Given the description of an element on the screen output the (x, y) to click on. 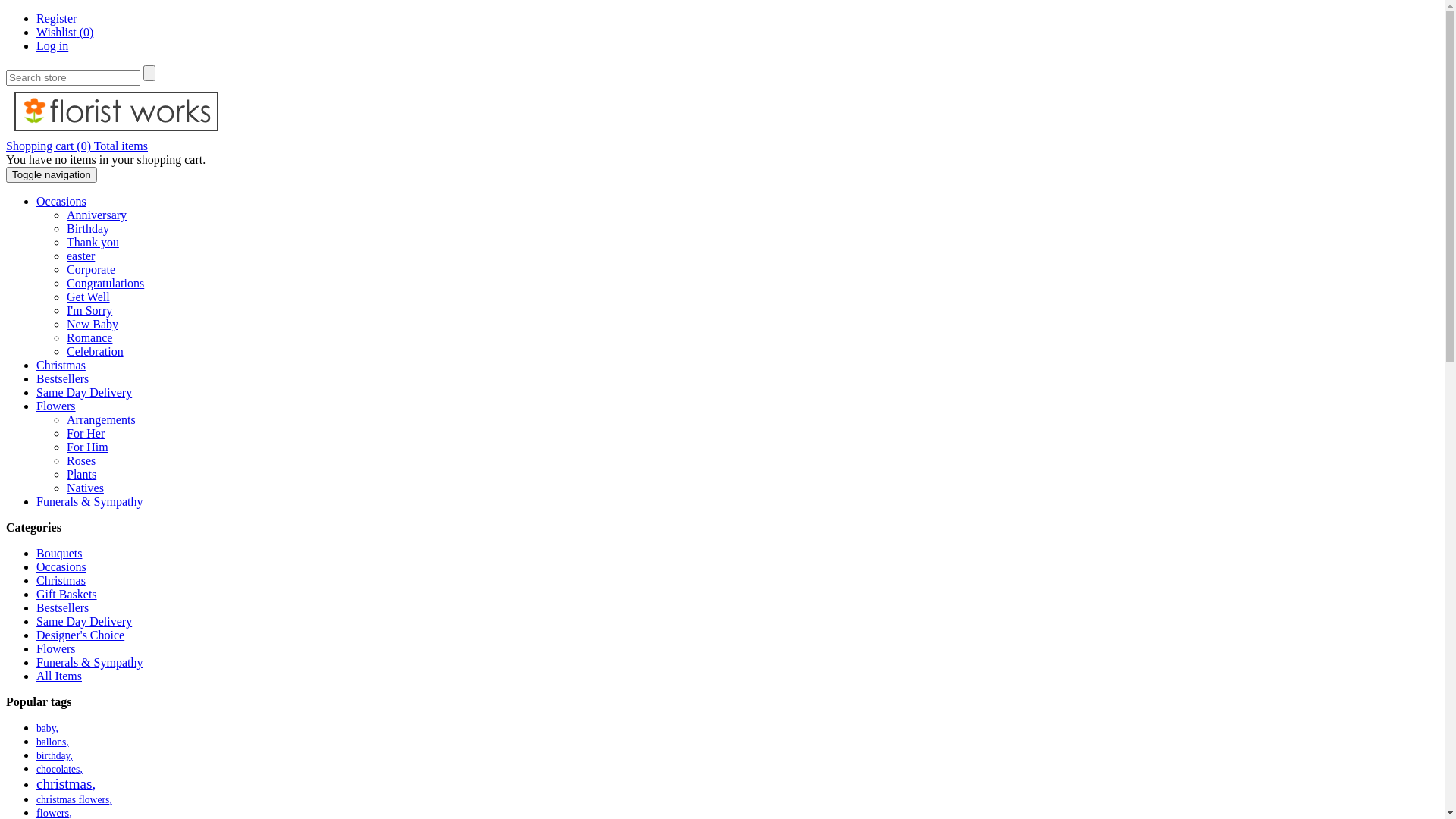
Celebration Element type: text (94, 351)
Christmas Element type: text (60, 580)
birthday, Element type: text (54, 755)
baby, Element type: text (47, 728)
Thank you Element type: text (92, 241)
Occasions Element type: text (61, 200)
Get Well Element type: text (87, 296)
Birthday Element type: text (87, 228)
easter Element type: text (80, 255)
Romance Element type: text (89, 337)
Congratulations Element type: text (105, 282)
For Him Element type: text (87, 446)
Funerals & Sympathy Element type: text (89, 501)
Plants Element type: text (81, 473)
Occasions Element type: text (61, 566)
Christmas Element type: text (60, 364)
Funerals & Sympathy Element type: text (89, 661)
New Baby Element type: text (92, 323)
Flowers Element type: text (55, 405)
Anniversary Element type: text (96, 214)
Wishlist (0) Element type: text (64, 31)
Toggle navigation Element type: text (51, 174)
Natives Element type: text (84, 487)
For Her Element type: text (85, 432)
Flowers Element type: text (55, 648)
christmas, Element type: text (65, 783)
Arrangements Element type: text (100, 419)
christmas flowers, Element type: text (74, 799)
I'm Sorry Element type: text (89, 310)
All Items Element type: text (58, 675)
Register Element type: text (56, 18)
ballons, Element type: text (52, 741)
Shopping cart (0) Total items Element type: text (76, 145)
Gift Baskets Element type: text (66, 593)
Same Day Delivery Element type: text (83, 391)
Log in Element type: text (52, 45)
Corporate Element type: text (90, 269)
Bestsellers Element type: text (62, 607)
Designer's Choice Element type: text (80, 634)
Bestsellers Element type: text (62, 378)
Bouquets Element type: text (58, 552)
Same Day Delivery Element type: text (83, 621)
chocolates, Element type: text (59, 769)
Roses Element type: text (80, 460)
